Given the description of an element on the screen output the (x, y) to click on. 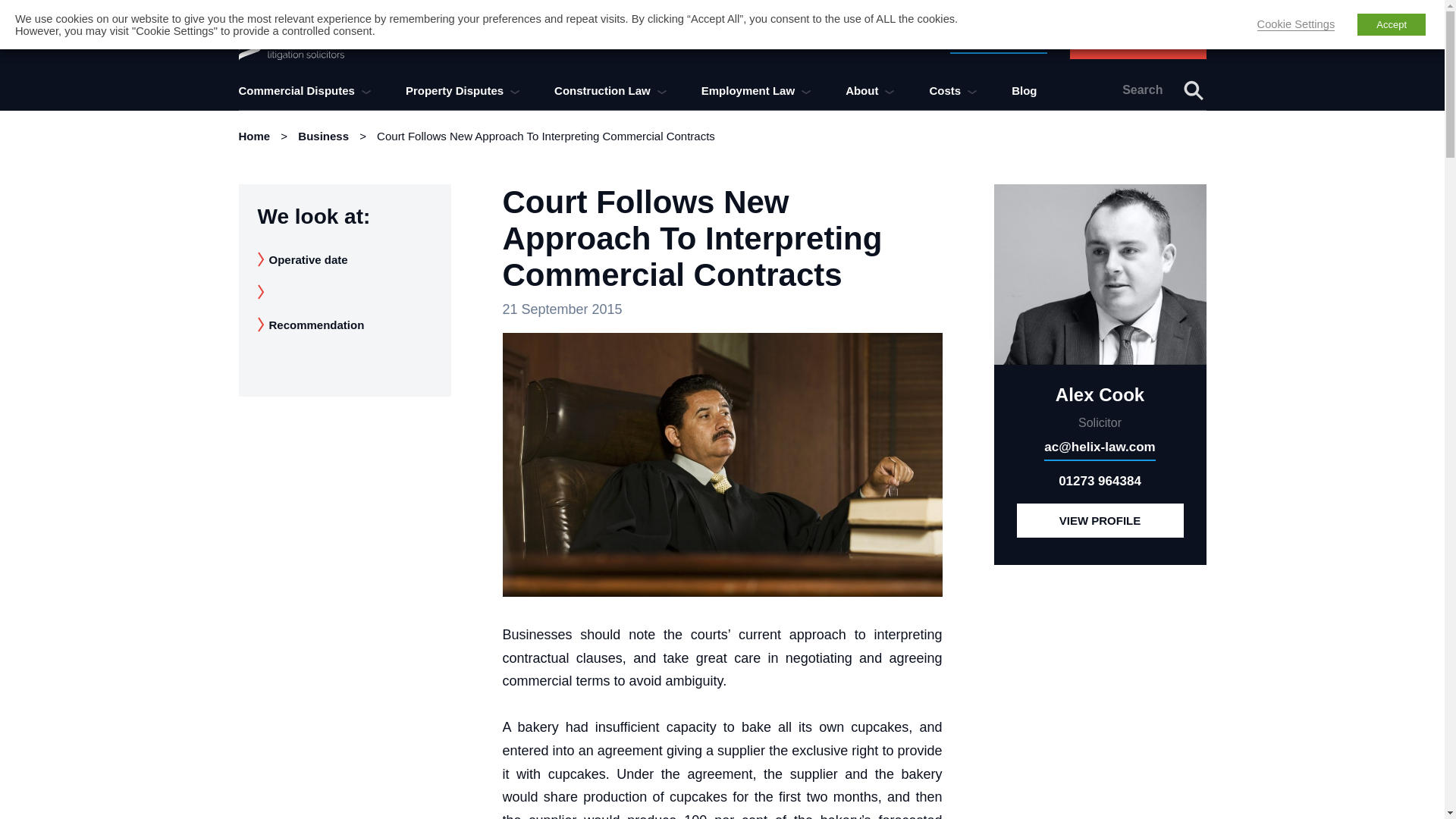
Construction Law (610, 89)
Property Disputes (462, 89)
CONTACT US (1136, 41)
01273 964384 (998, 40)
Commercial Disputes (304, 89)
